Given the description of an element on the screen output the (x, y) to click on. 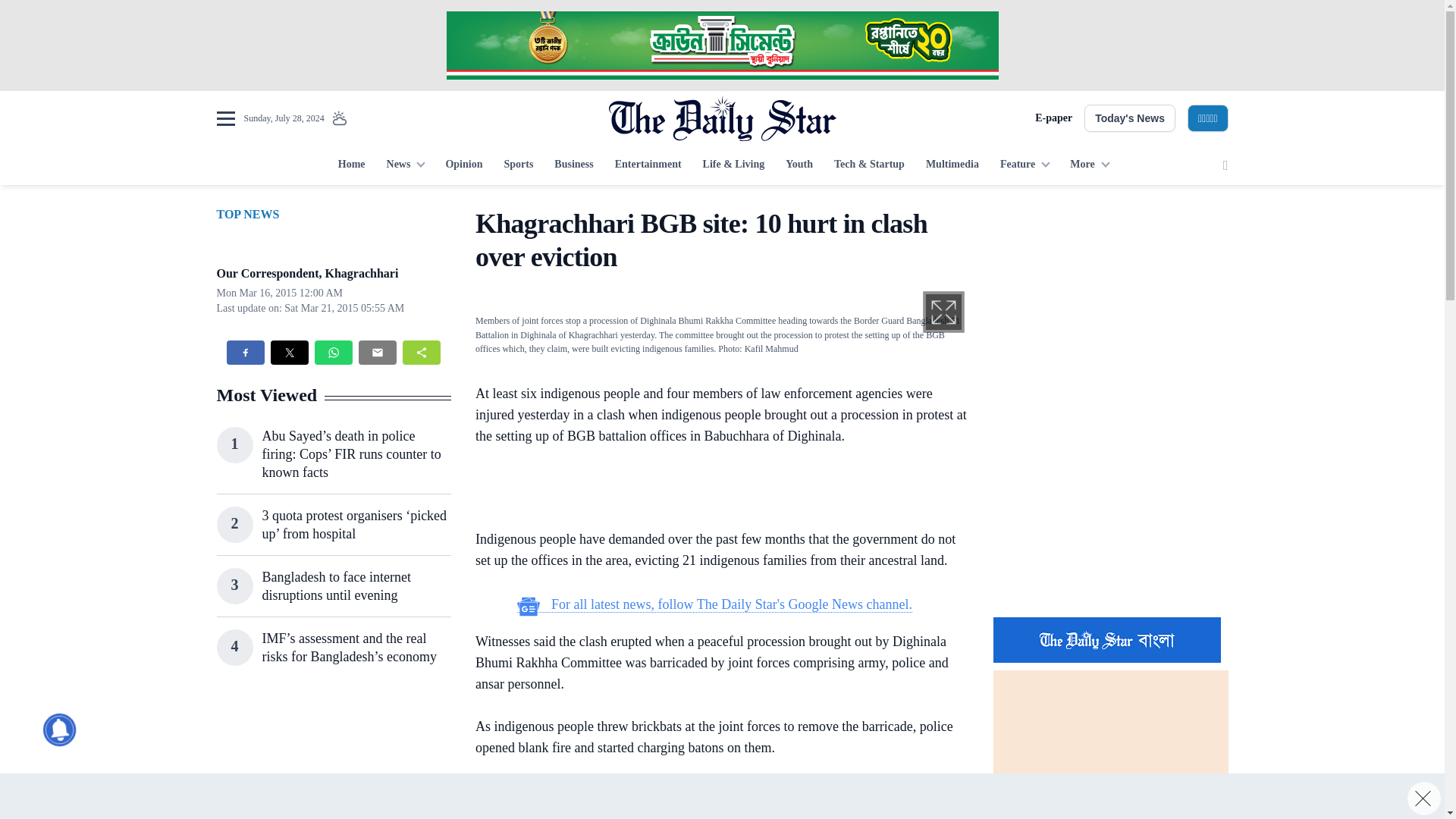
3rd party ad content (714, 490)
3rd party ad content (332, 758)
Feature (1024, 165)
Youth (799, 165)
Home (351, 165)
3rd party ad content (1110, 506)
Today's News (1129, 117)
Business (573, 165)
3rd party ad content (721, 796)
3rd party ad content (1110, 302)
Entertainment (647, 165)
News (405, 165)
3rd party ad content (713, 799)
3rd party ad content (721, 45)
